Given the description of an element on the screen output the (x, y) to click on. 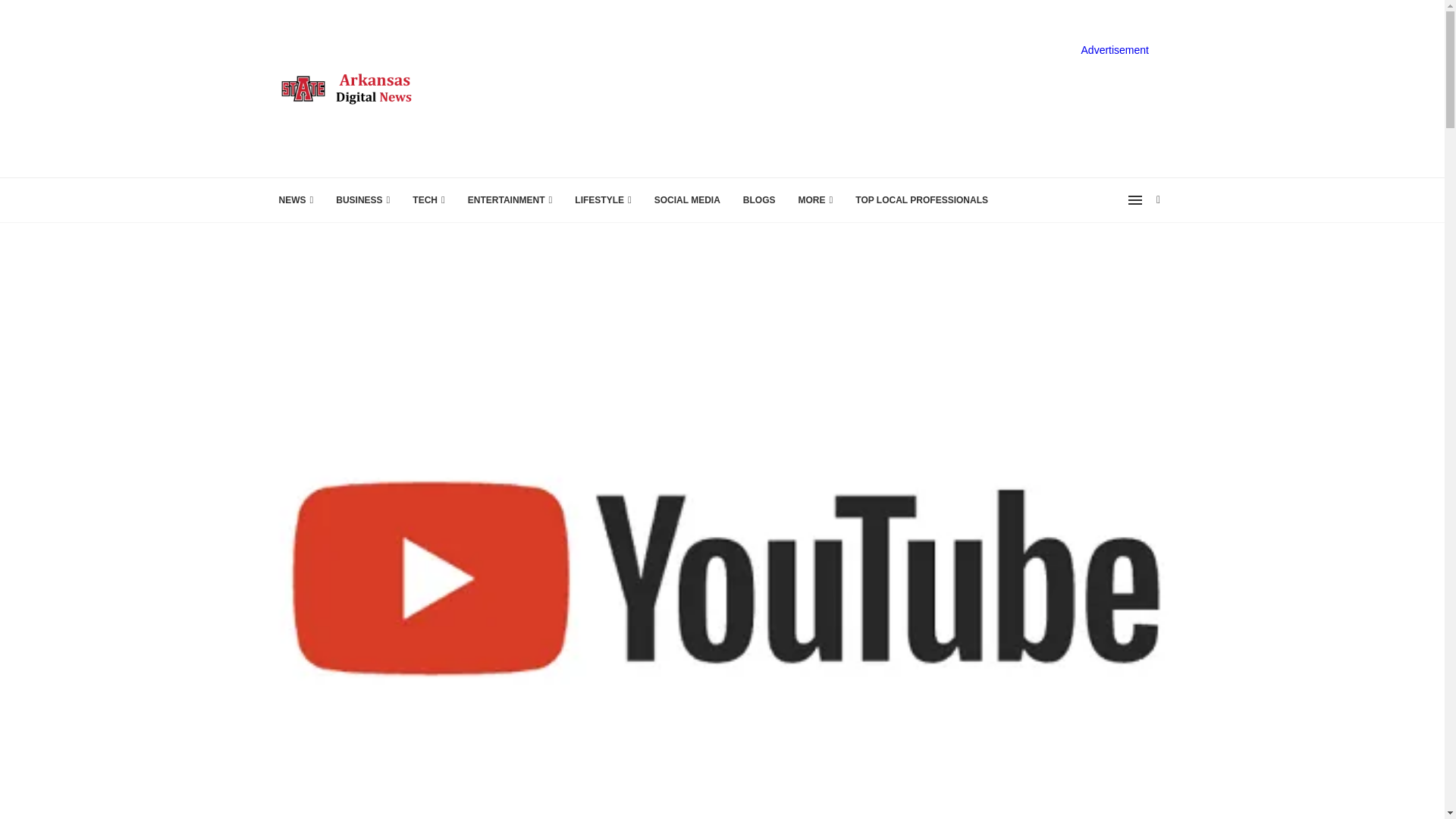
ENTERTAINMENT (510, 199)
LIFESTYLE (602, 199)
SOCIAL MEDIA (686, 199)
BUSINESS (363, 199)
TOP LOCAL PROFESSIONALS (922, 199)
